Given the description of an element on the screen output the (x, y) to click on. 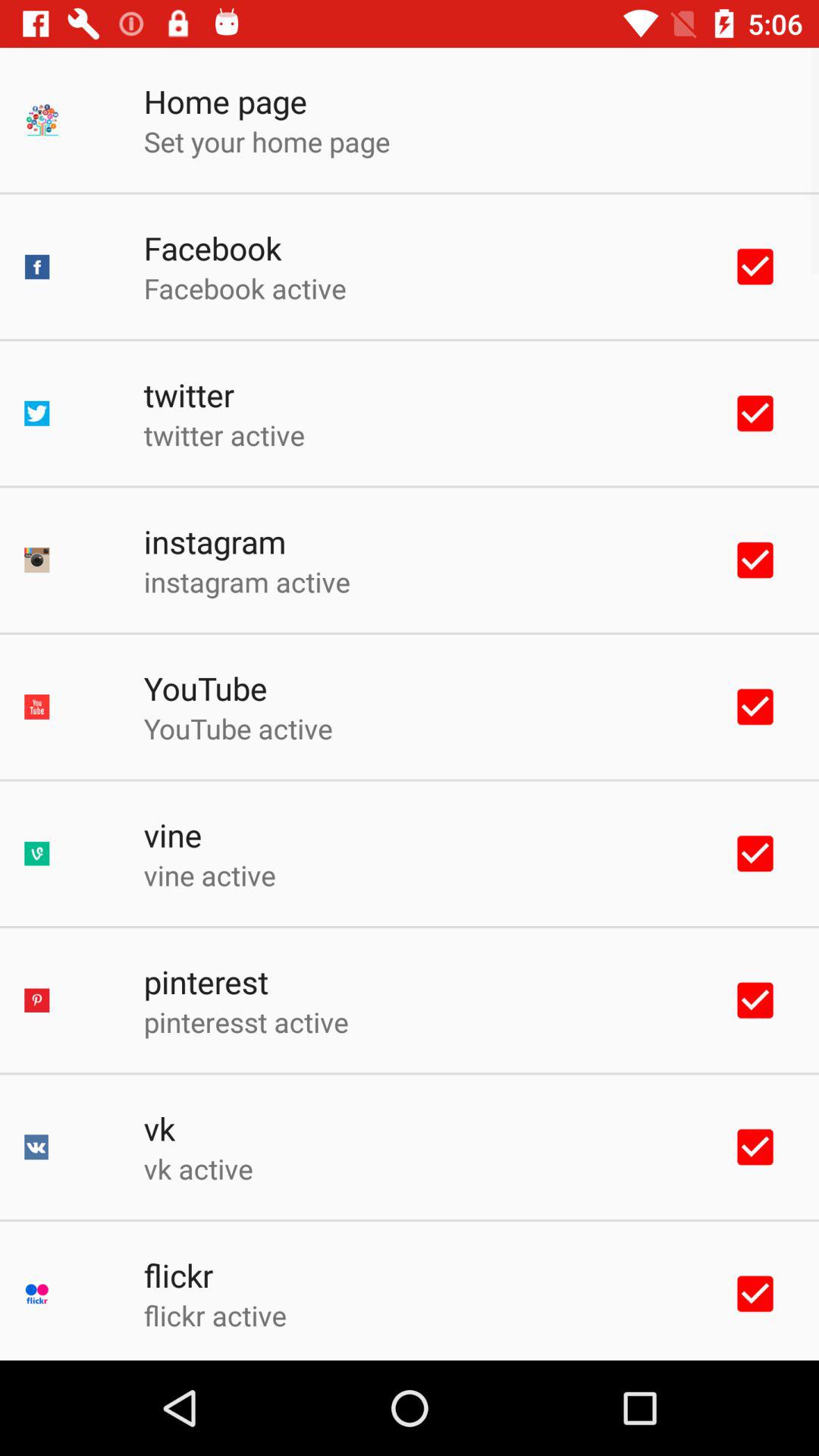
scroll to vk active icon (198, 1168)
